Given the description of an element on the screen output the (x, y) to click on. 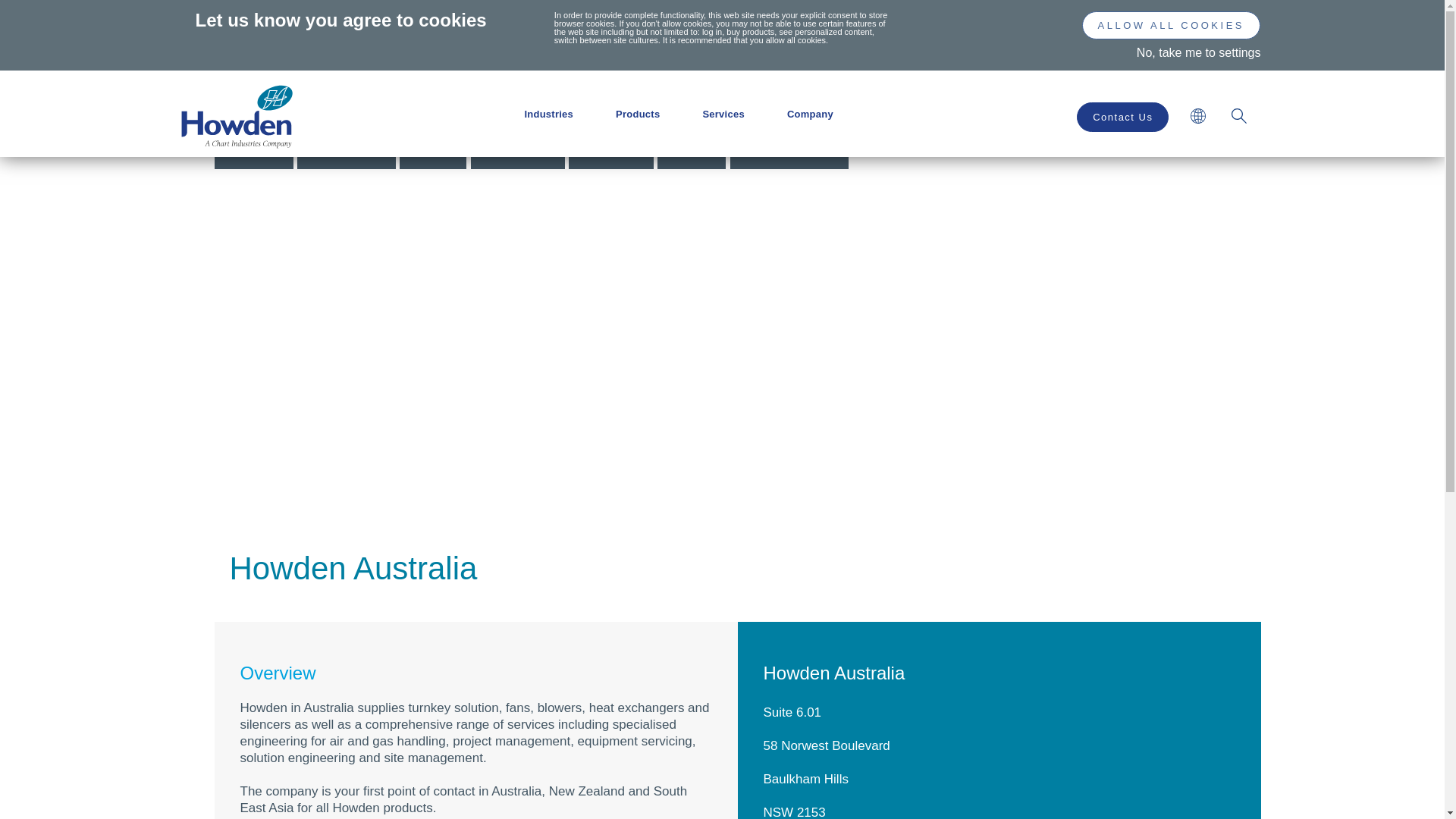
Howden Element type: text (236, 141)
RUSSIA & FSU Element type: text (789, 153)
P.R.CHINA Element type: text (517, 153)
Howden Element type: hover (236, 116)
No, take me to settings Element type: text (1198, 52)
Products Element type: text (637, 113)
AFRICA Element type: text (253, 153)
APAC Element type: text (433, 153)
Company Element type: text (810, 113)
EUROPE Element type: text (611, 153)
Industries Element type: text (548, 113)
Services Element type: text (723, 113)
Contact Us Element type: text (1122, 116)
Allow all cookies Element type: text (1171, 25)
SITEMAP Element type: text (1197, 116)
MESA Element type: text (691, 153)
SEARCH Element type: text (1238, 116)
AMERICAS Element type: text (346, 153)
